Given the description of an element on the screen output the (x, y) to click on. 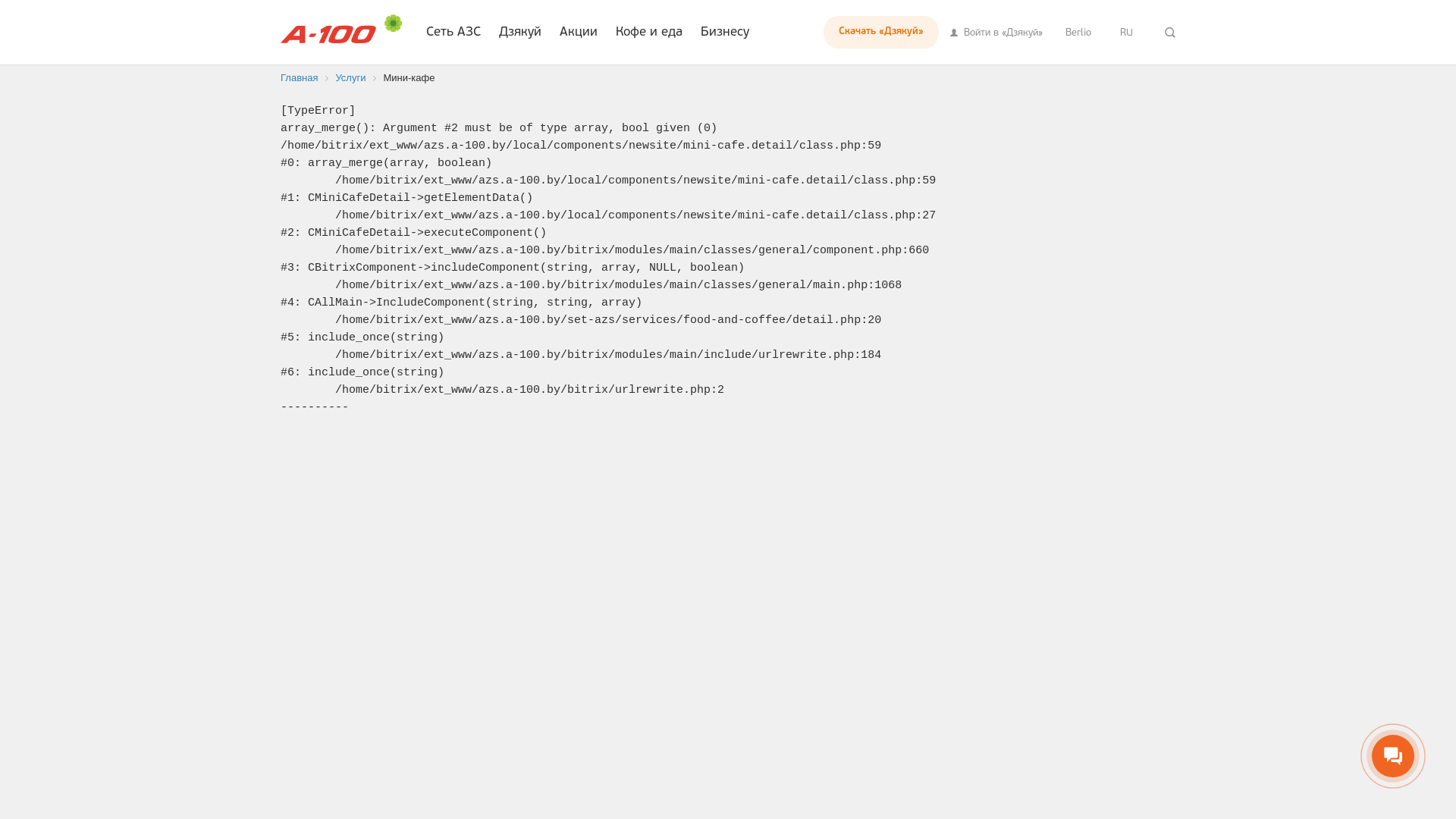
Berlio Element type: text (1078, 31)
